Given the description of an element on the screen output the (x, y) to click on. 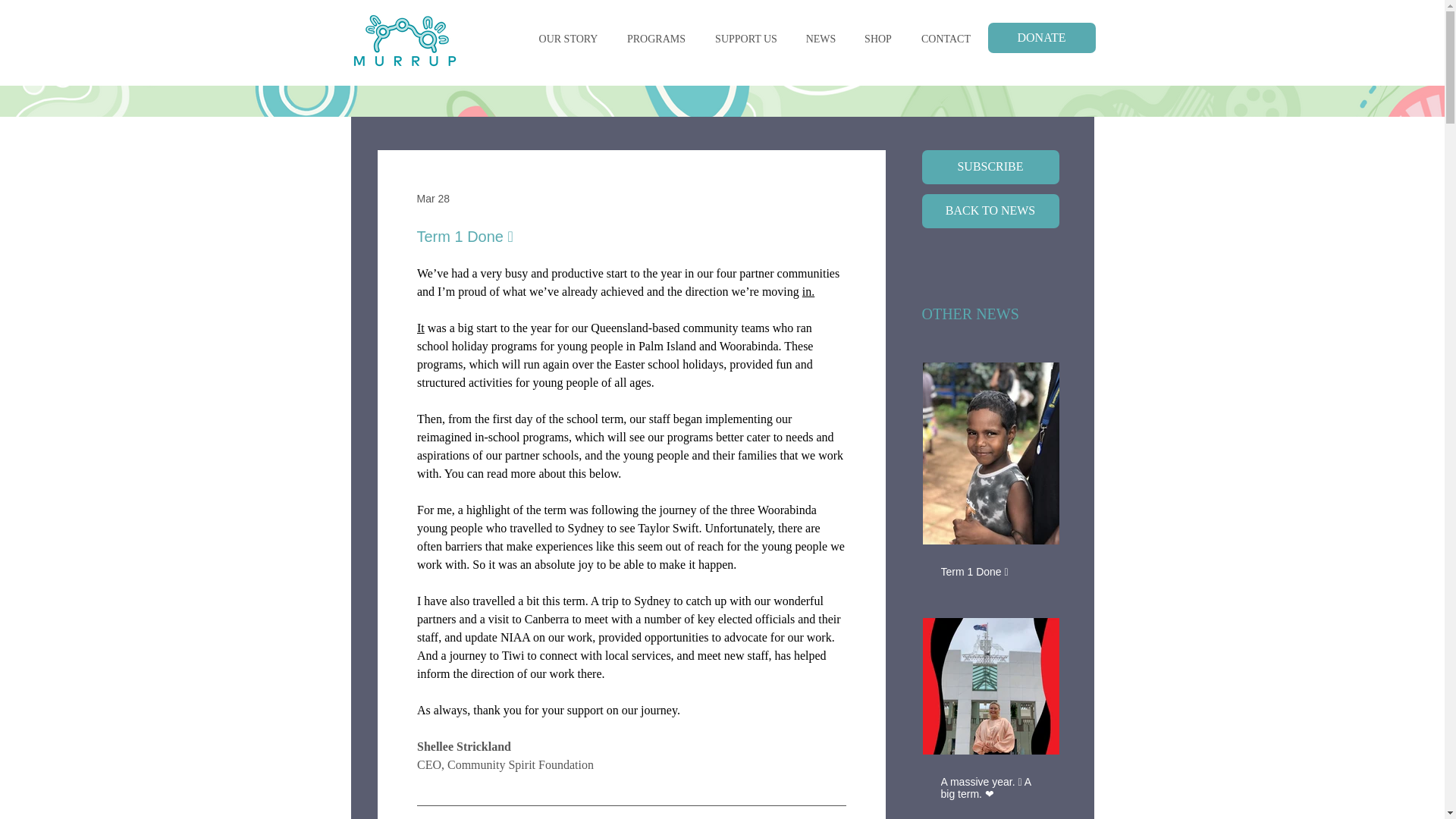
SUPPORT US (746, 39)
NEWS (820, 39)
BACK TO NEWS (990, 211)
CONTACT (946, 39)
SUBSCRIBE (990, 166)
DONATE (1040, 37)
PROGRAMS (656, 39)
OUR STORY (568, 39)
SHOP (876, 39)
Mar 28 (432, 198)
